Given the description of an element on the screen output the (x, y) to click on. 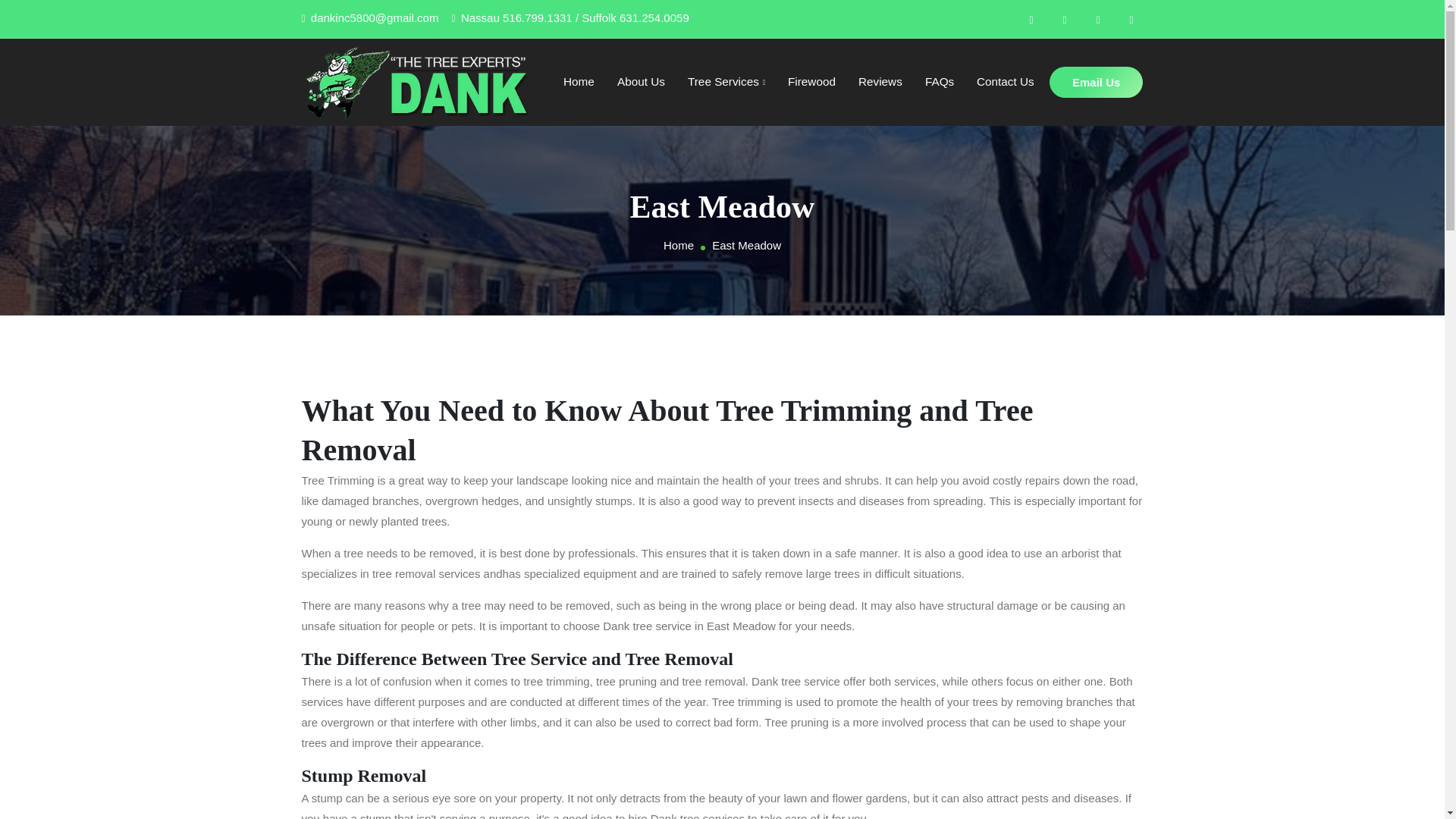
FAQs (938, 81)
Tree Services (726, 81)
About Us (641, 81)
Contact Us (1004, 81)
516.799.1331 (538, 17)
Firewood (811, 81)
631.254.0059 (654, 17)
Home (678, 245)
Home (578, 81)
Reviews (880, 81)
Email Us (1095, 81)
